Given the description of an element on the screen output the (x, y) to click on. 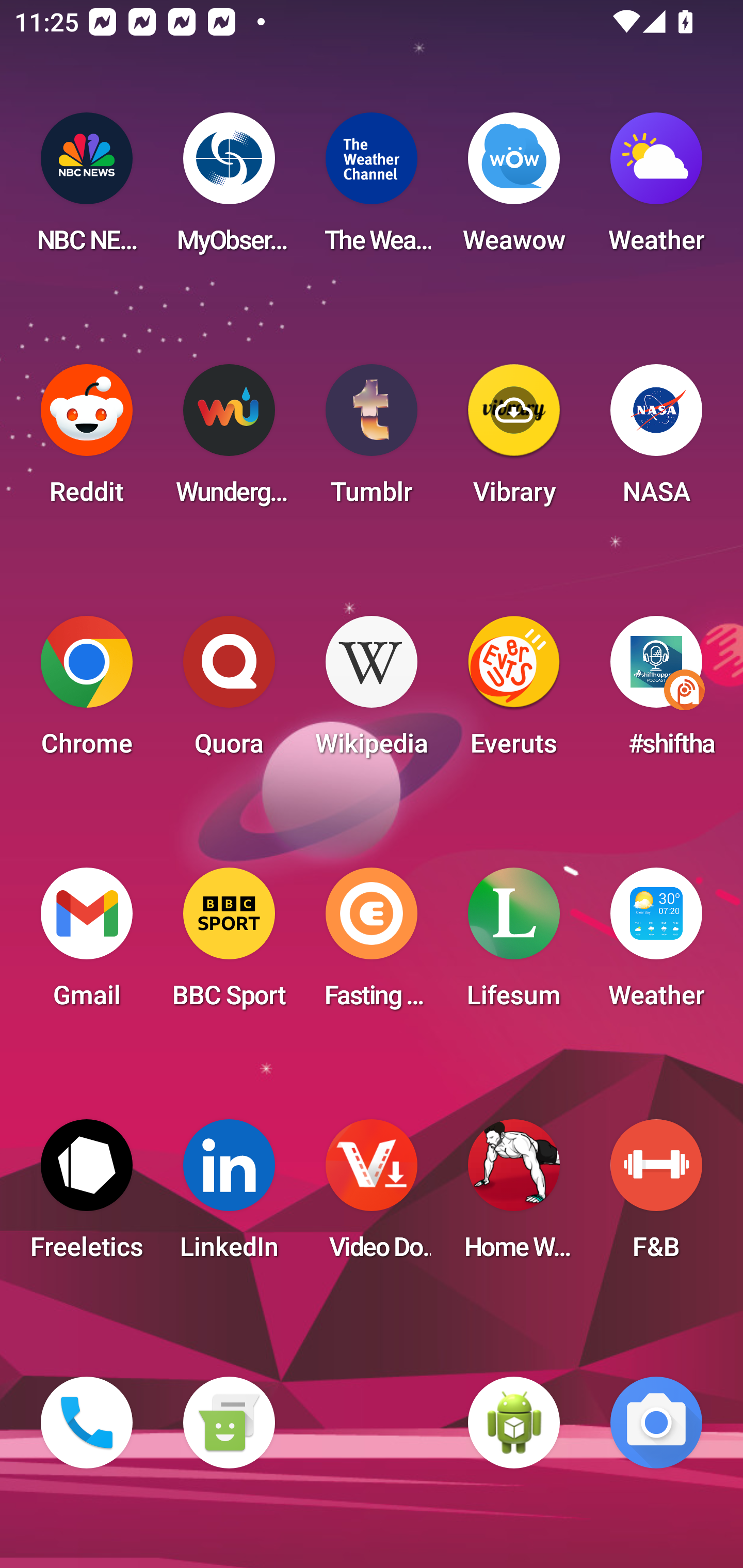
NBC NEWS (86, 188)
MyObservatory (228, 188)
The Weather Channel (371, 188)
Weawow (513, 188)
Weather (656, 188)
Reddit (86, 440)
Wunderground (228, 440)
Tumblr (371, 440)
Vibrary (513, 440)
NASA (656, 440)
Chrome (86, 692)
Quora (228, 692)
Wikipedia (371, 692)
Everuts (513, 692)
#shifthappens in the Digital Workplace Podcast (656, 692)
Gmail (86, 943)
BBC Sport (228, 943)
Fasting Coach (371, 943)
Lifesum (513, 943)
Weather (656, 943)
Freeletics (86, 1195)
LinkedIn (228, 1195)
Video Downloader & Ace Player (371, 1195)
Home Workout (513, 1195)
F&B (656, 1195)
Phone (86, 1422)
Messaging (228, 1422)
WebView Browser Tester (513, 1422)
Camera (656, 1422)
